Given the description of an element on the screen output the (x, y) to click on. 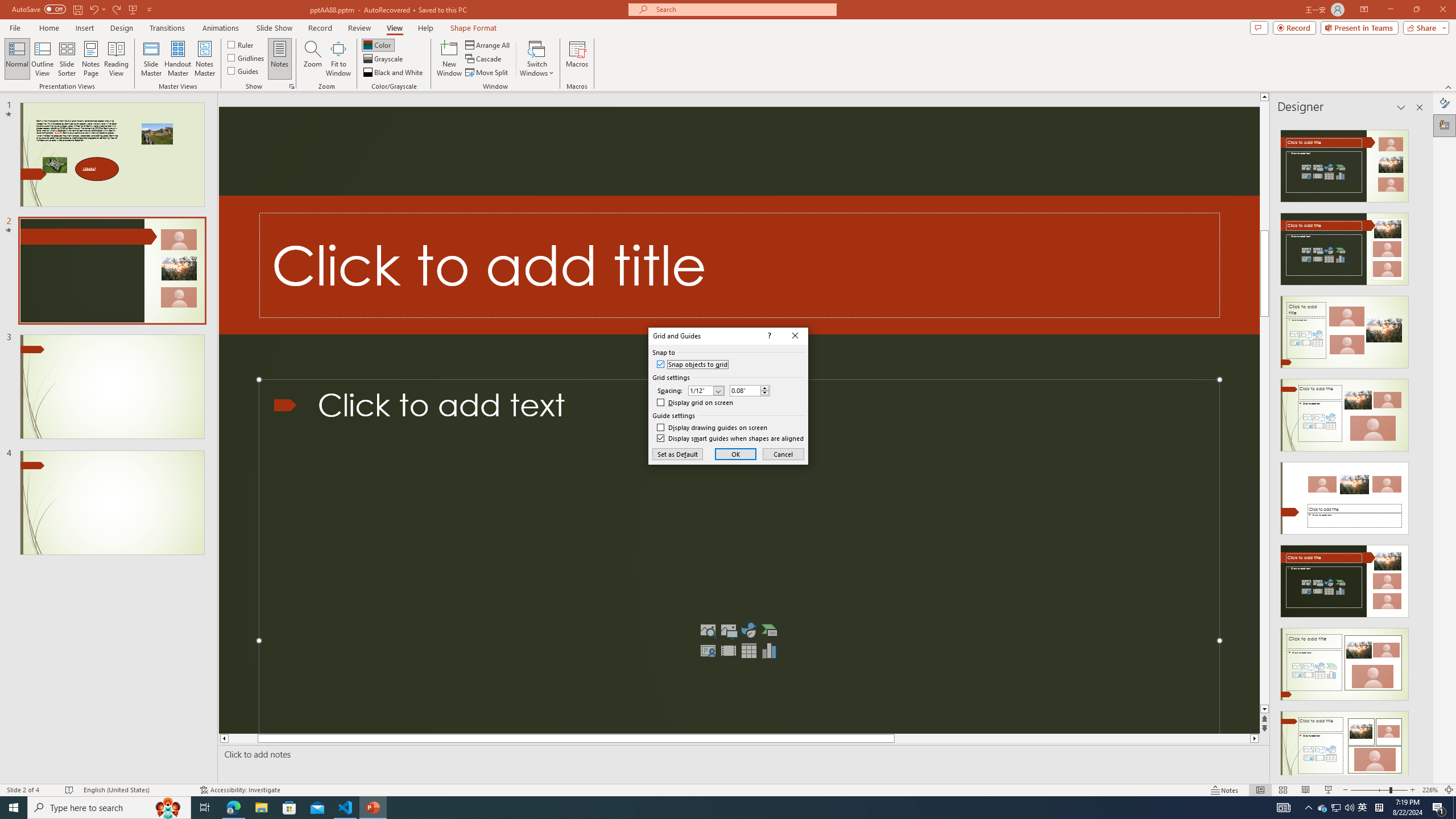
Display grid on screen (694, 402)
Move Split (487, 72)
Handout Master (177, 58)
